Given the description of an element on the screen output the (x, y) to click on. 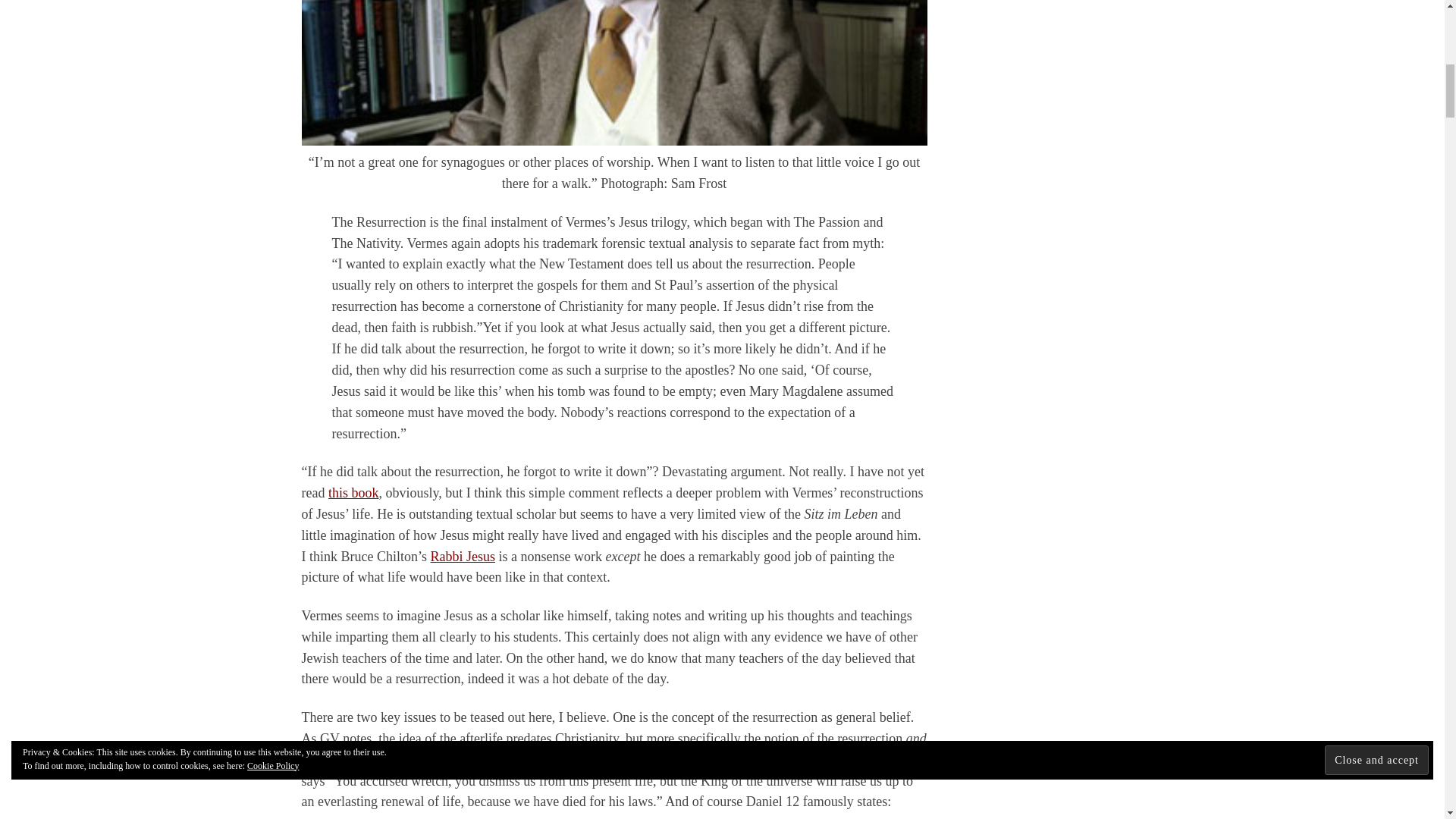
Chilton, Rabbi Jesus (463, 556)
Vermes, The Resurrection (353, 492)
